Given the description of an element on the screen output the (x, y) to click on. 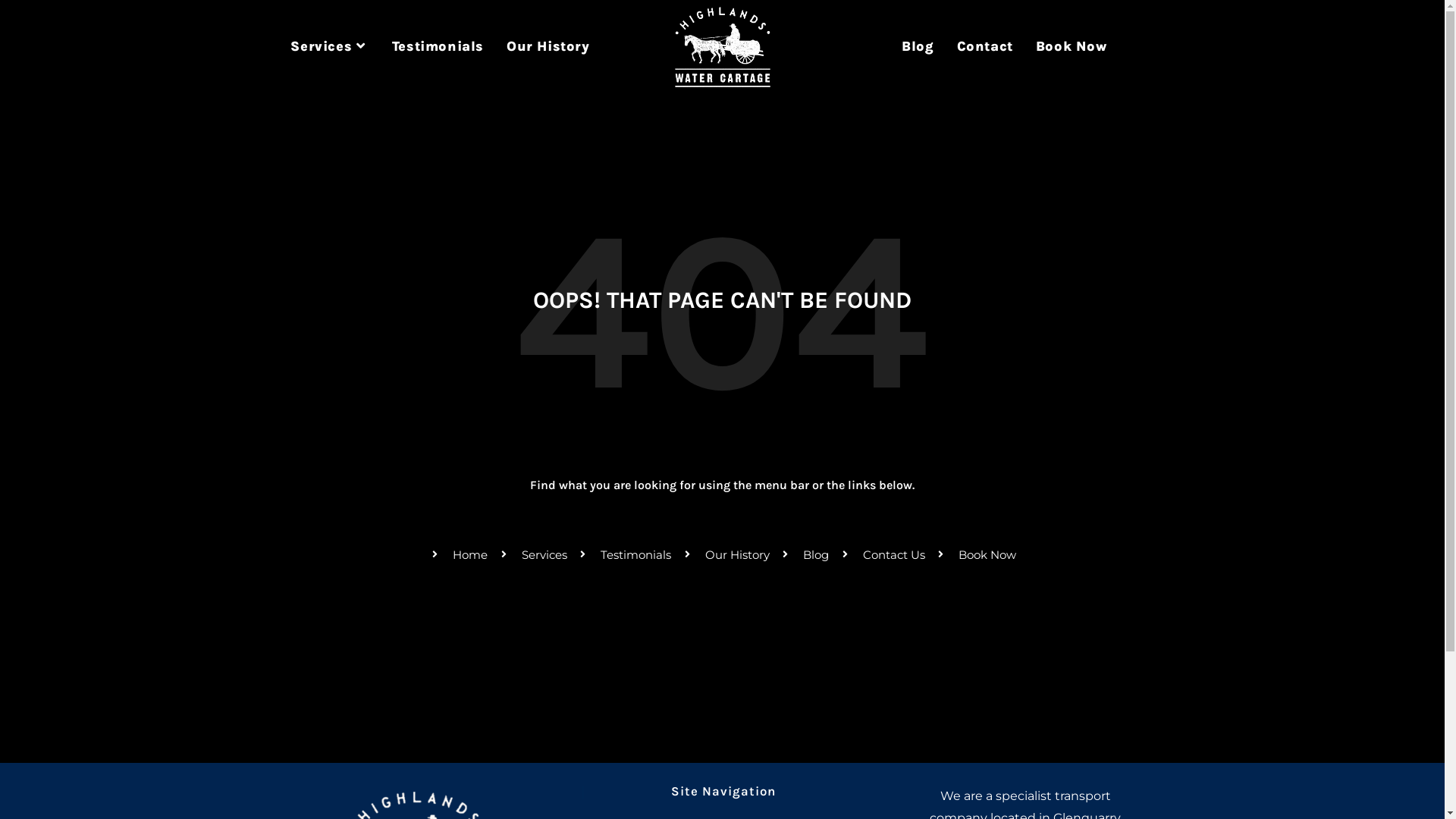
Services Element type: text (531, 554)
Blog Element type: text (917, 46)
Testimonials Element type: text (623, 554)
Services Element type: text (329, 46)
Contact Element type: text (984, 46)
Testimonials Element type: text (437, 46)
Book Now Element type: text (1071, 46)
Book Now Element type: text (975, 554)
Home Element type: text (458, 554)
Contact Us Element type: text (881, 554)
Our History Element type: text (724, 554)
Our History Element type: text (548, 46)
Blog Element type: text (803, 554)
